Given the description of an element on the screen output the (x, y) to click on. 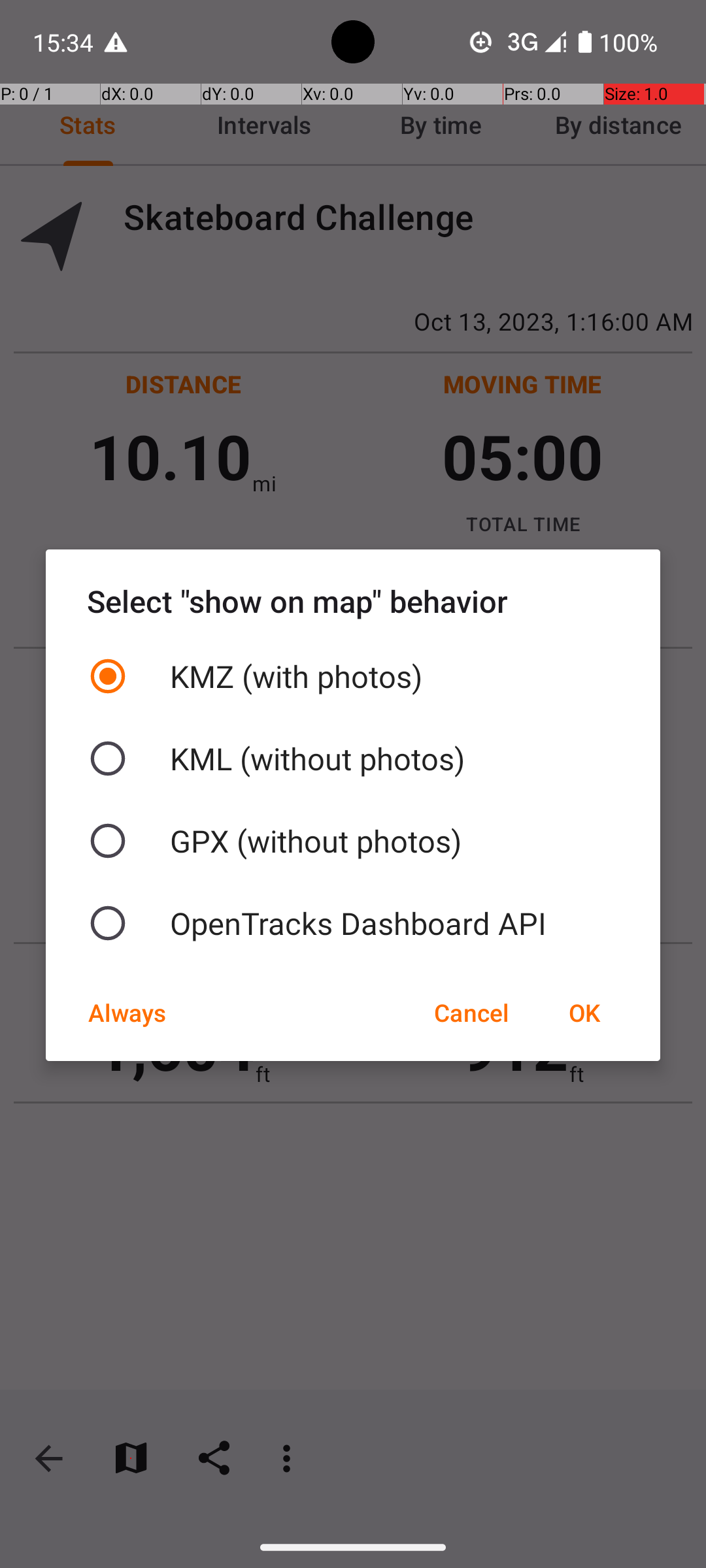
Select "show on map" behavior Element type: android.widget.TextView (352, 600)
KMZ (with photos) Element type: android.widget.CheckedTextView (352, 676)
KML (without photos) Element type: android.widget.CheckedTextView (352, 758)
GPX (without photos) Element type: android.widget.CheckedTextView (352, 840)
OpenTracks Dashboard API Element type: android.widget.CheckedTextView (352, 923)
